Given the description of an element on the screen output the (x, y) to click on. 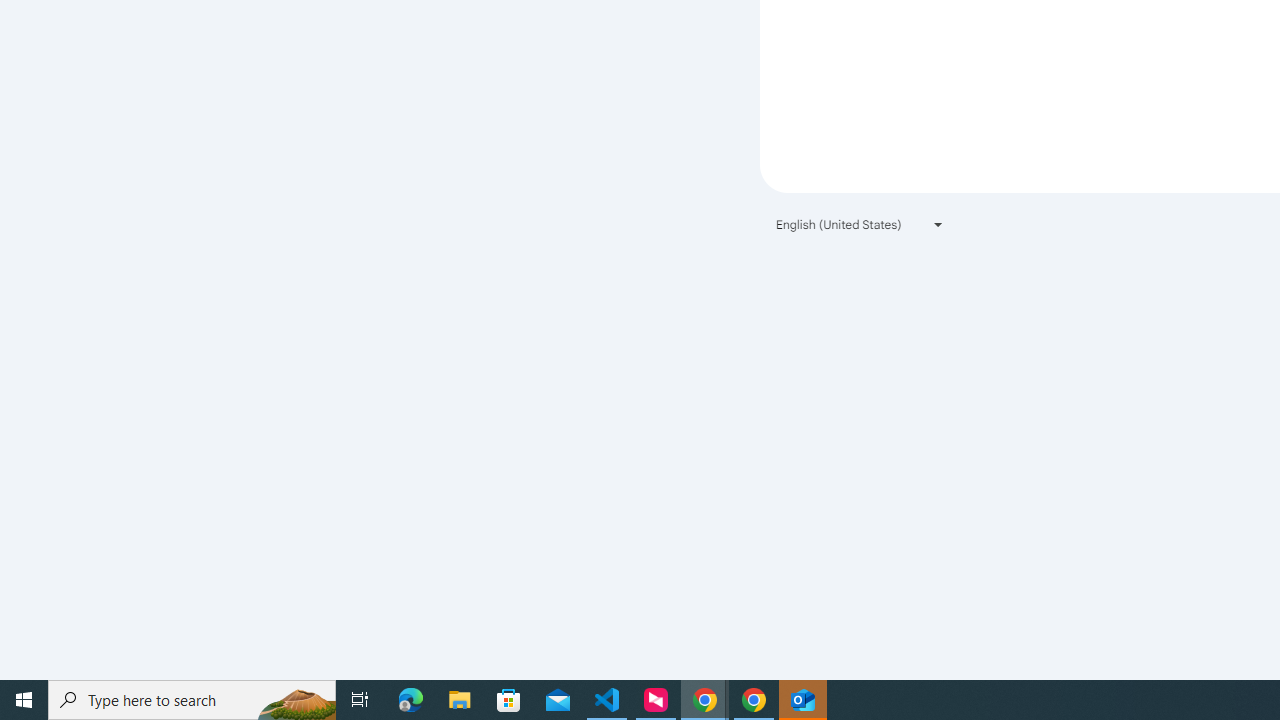
English (United States) (860, 224)
